Given the description of an element on the screen output the (x, y) to click on. 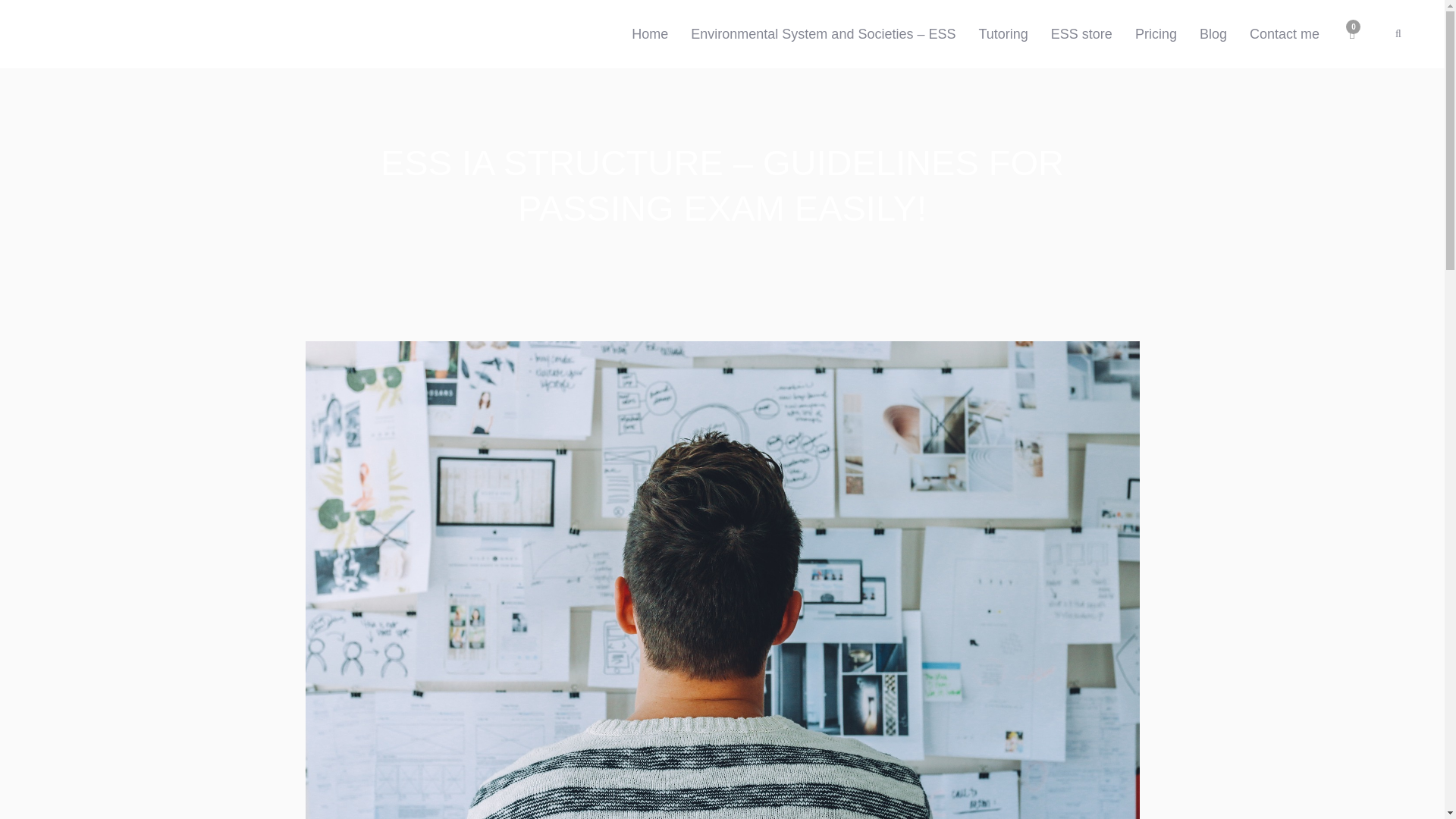
Pricing (1156, 33)
Tutoring (1002, 33)
ESS store (1081, 33)
Contact me (1284, 33)
